Given the description of an element on the screen output the (x, y) to click on. 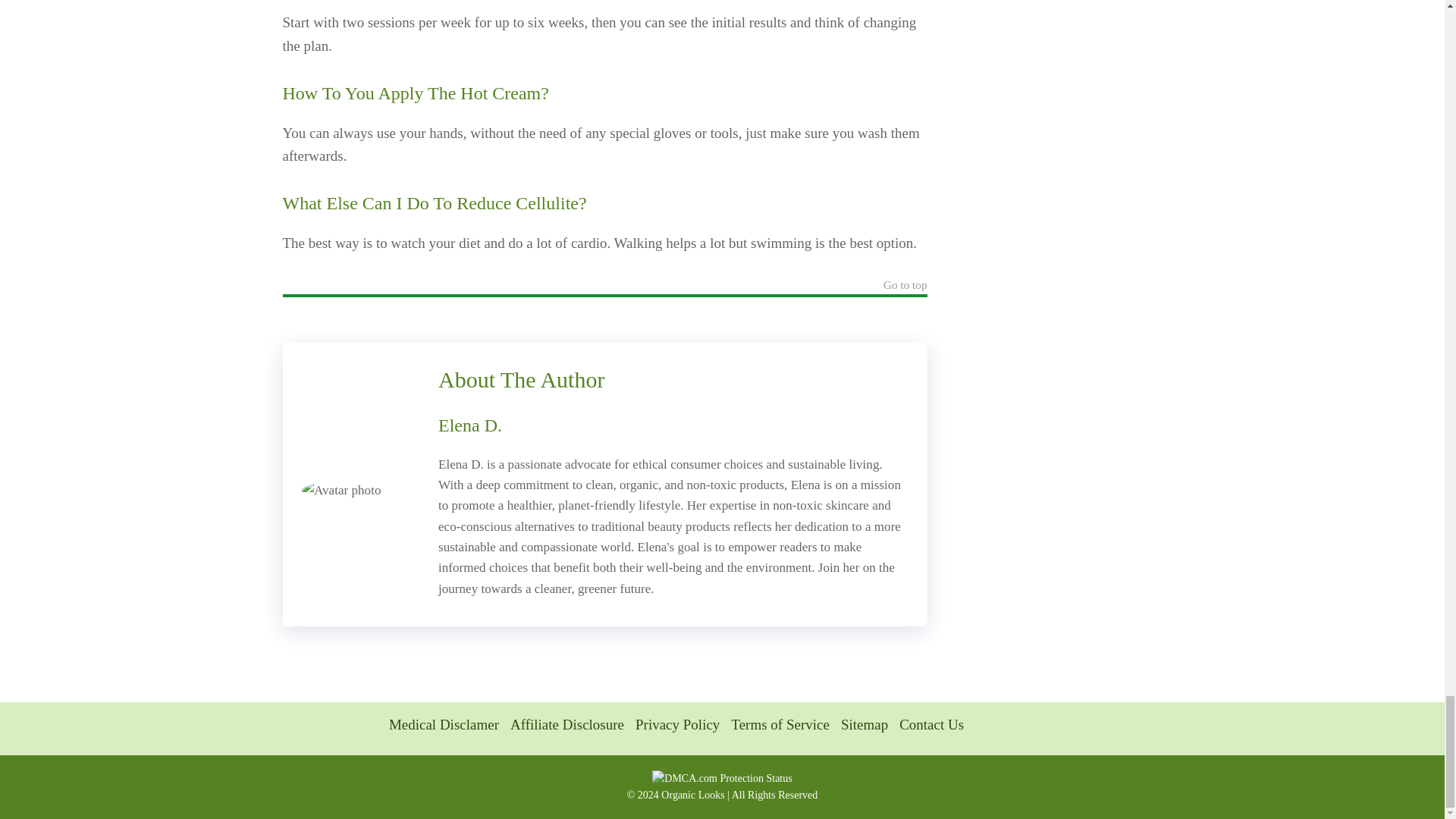
Go to top (904, 286)
Medical Disclamer (443, 724)
Affiliate Disclosure (567, 724)
